Given the description of an element on the screen output the (x, y) to click on. 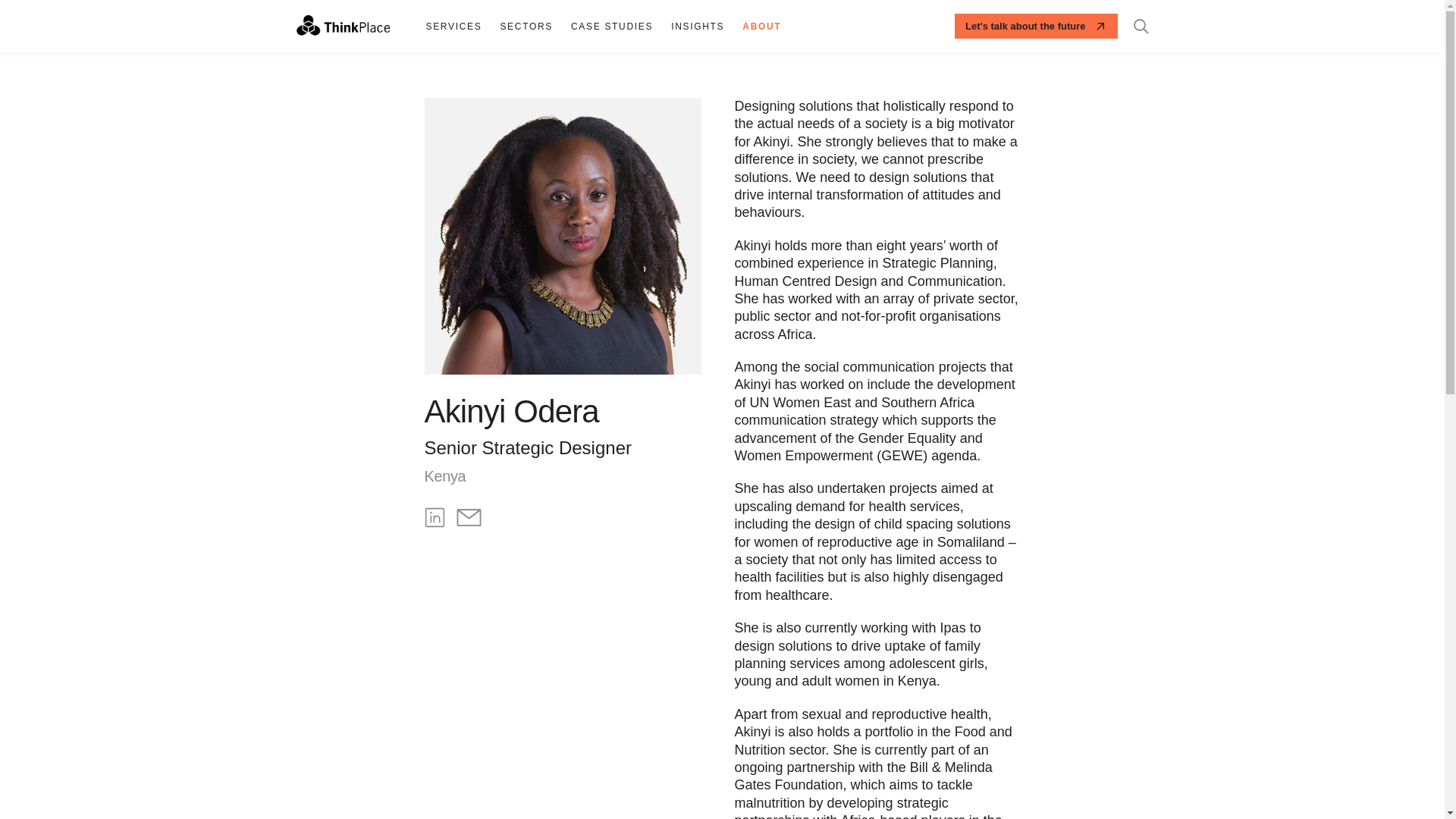
INSIGHTS (697, 25)
ABOUT (761, 25)
CASE STUDIES (612, 25)
Let's talk about the future (1035, 25)
SECTORS (526, 25)
SERVICES (454, 25)
